Given the description of an element on the screen output the (x, y) to click on. 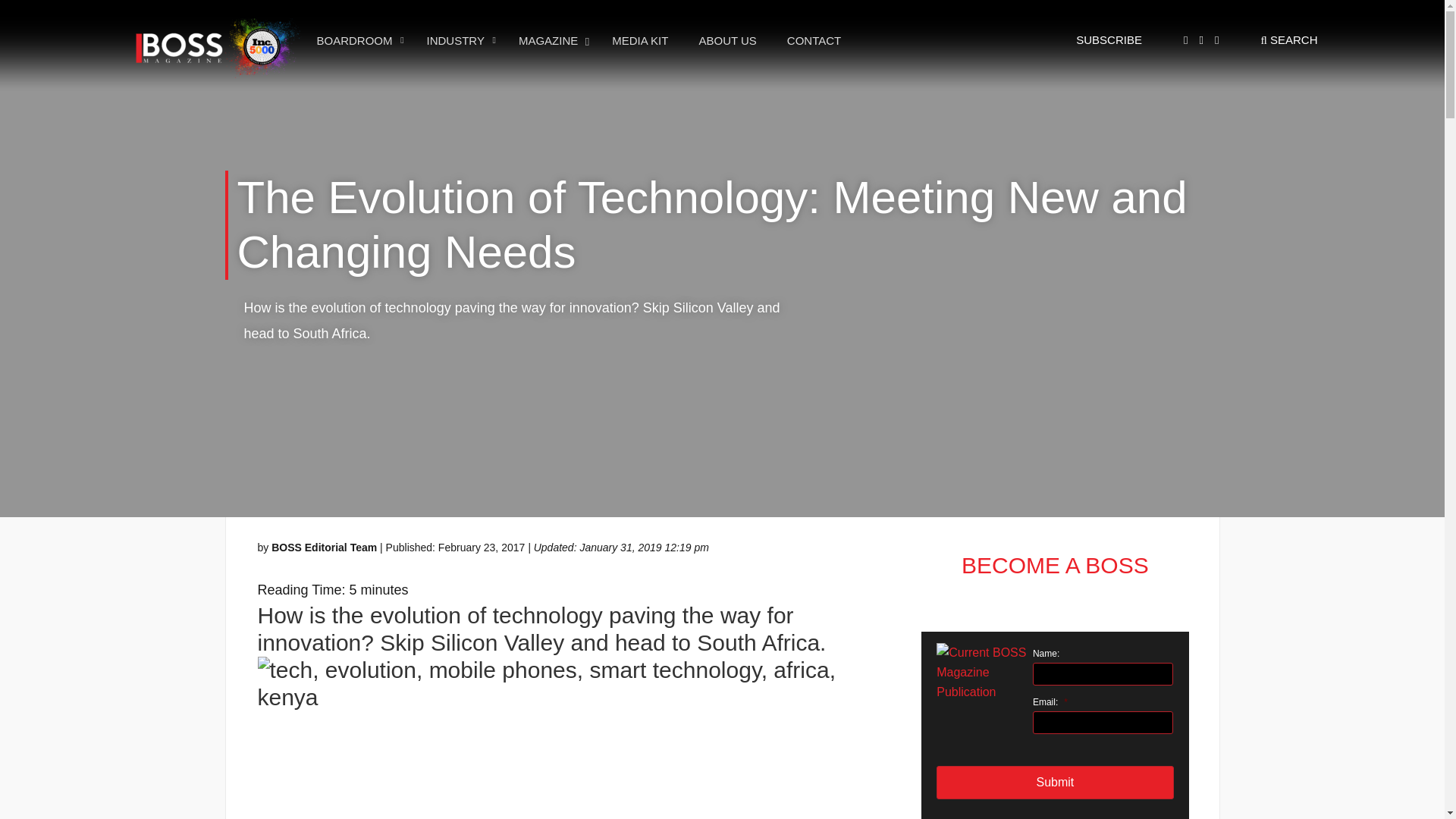
Current BOSS Magazine Publication (981, 671)
BOSS Magazine (579, 40)
